Given the description of an element on the screen output the (x, y) to click on. 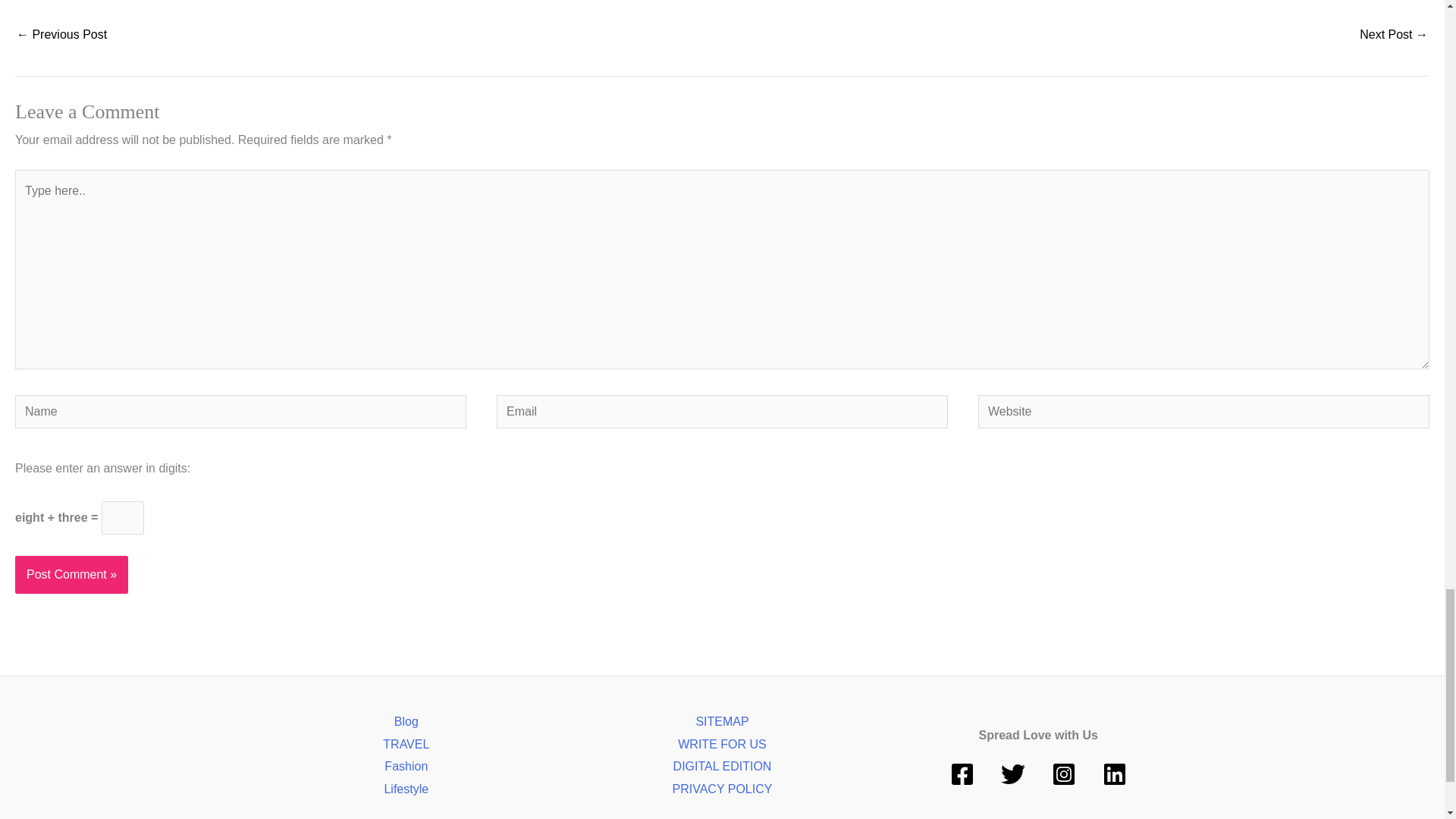
Deepika Padukone Slams Swara Bhaskar Open Letter (61, 35)
